Given the description of an element on the screen output the (x, y) to click on. 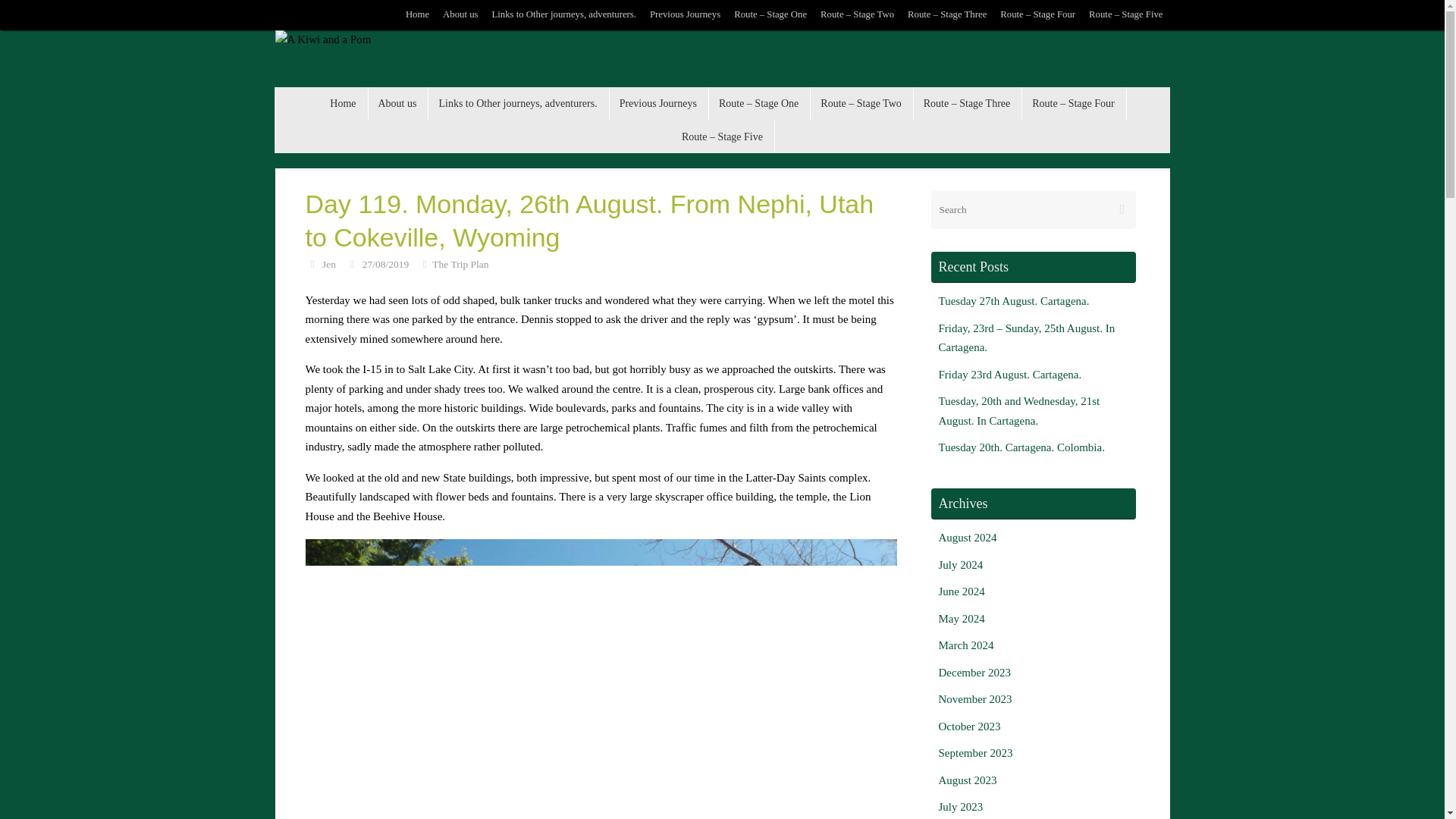
Friday 23rd August. Cartagena. (1010, 374)
Date (352, 264)
Links to Other journeys, adventurers. (518, 102)
About us (397, 102)
View all posts by Jen (328, 264)
Home (417, 15)
Jen (328, 264)
Author (311, 264)
A Kiwi and a Pom (323, 39)
Previous Journeys (684, 15)
